Given the description of an element on the screen output the (x, y) to click on. 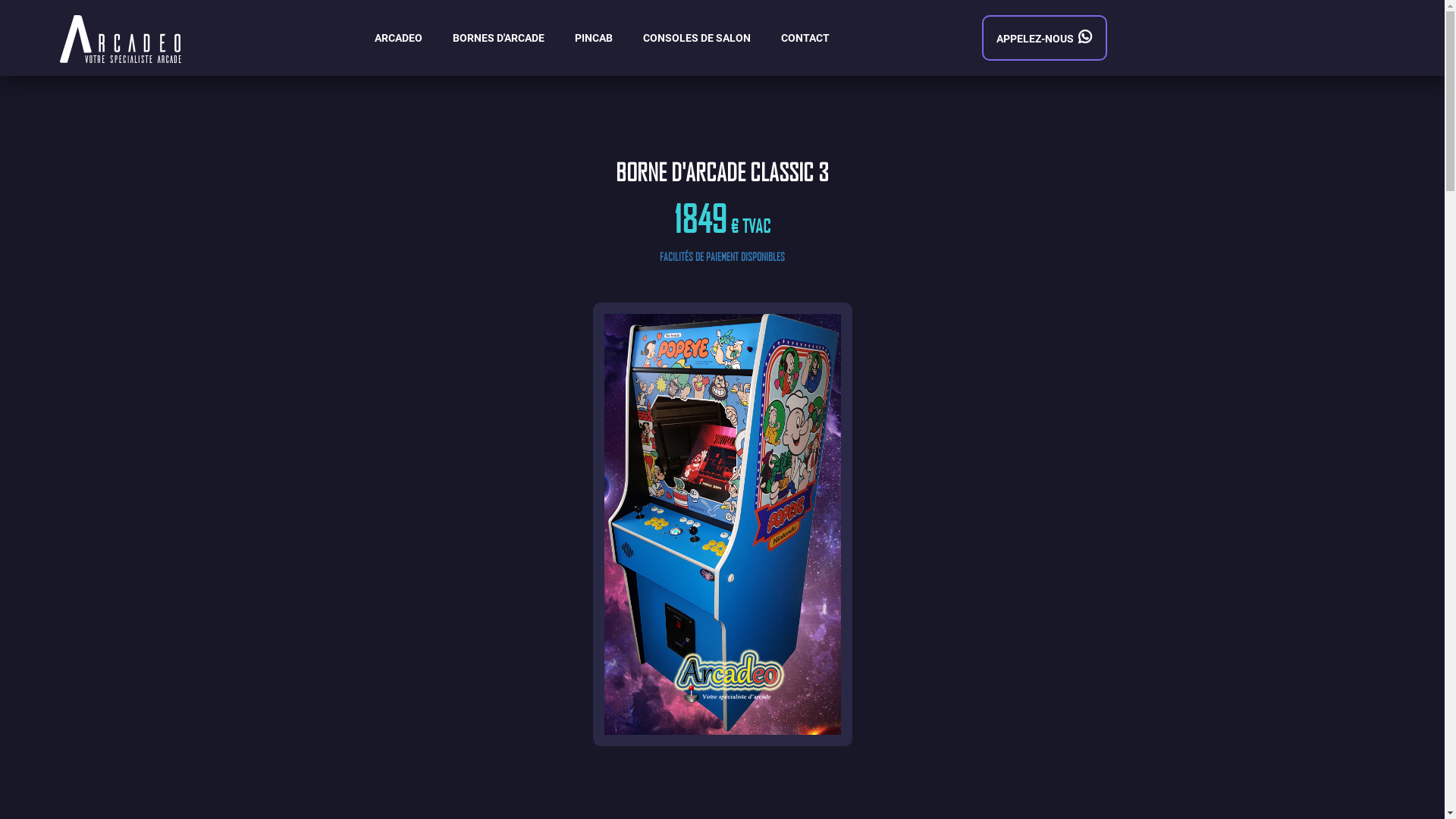
CONSOLES DE SALON Element type: text (696, 37)
ARCADEO Element type: text (398, 37)
CONTACT Element type: text (805, 37)
BORNES D'ARCADE Element type: text (498, 37)
APPELEZ-NOUS   Element type: text (1044, 37)
PINCAB Element type: text (593, 37)
